Given the description of an element on the screen output the (x, y) to click on. 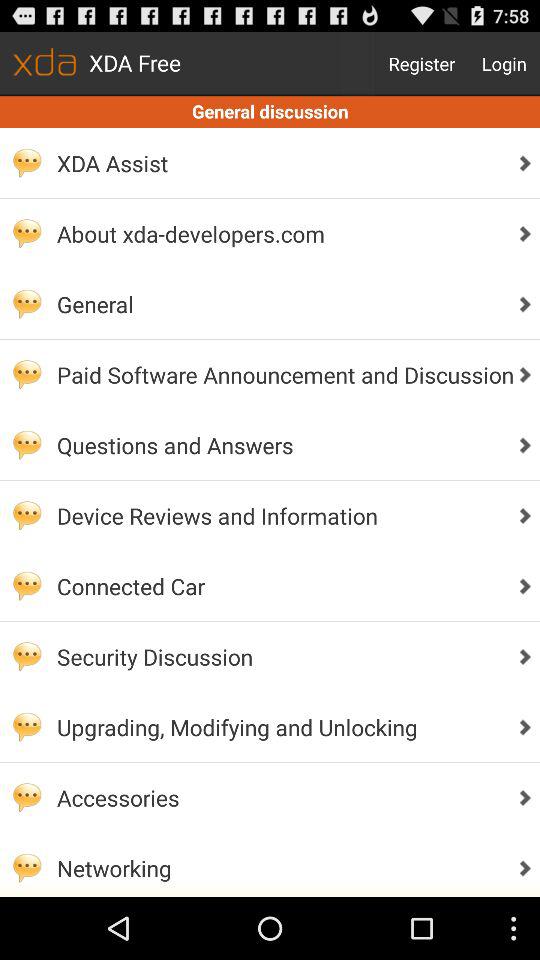
scroll to about xda developers (280, 233)
